Given the description of an element on the screen output the (x, y) to click on. 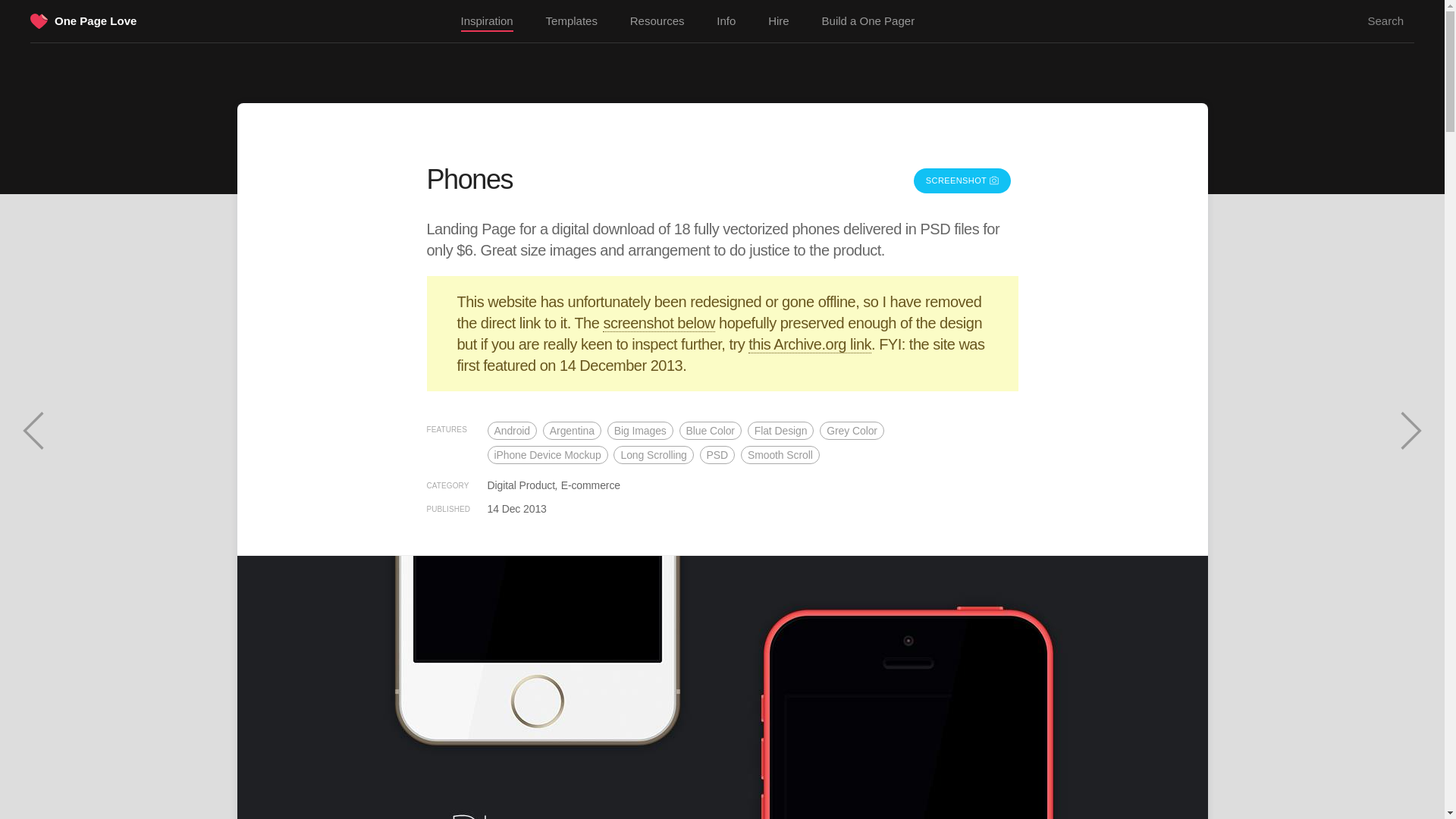
One Page website inspiration gallery (486, 22)
Go to the One Page Love home page (39, 22)
One Page Love (95, 20)
Inspiration (486, 22)
Go to the One Page Love home page (95, 20)
Find One Page website templates (571, 21)
